Given the description of an element on the screen output the (x, y) to click on. 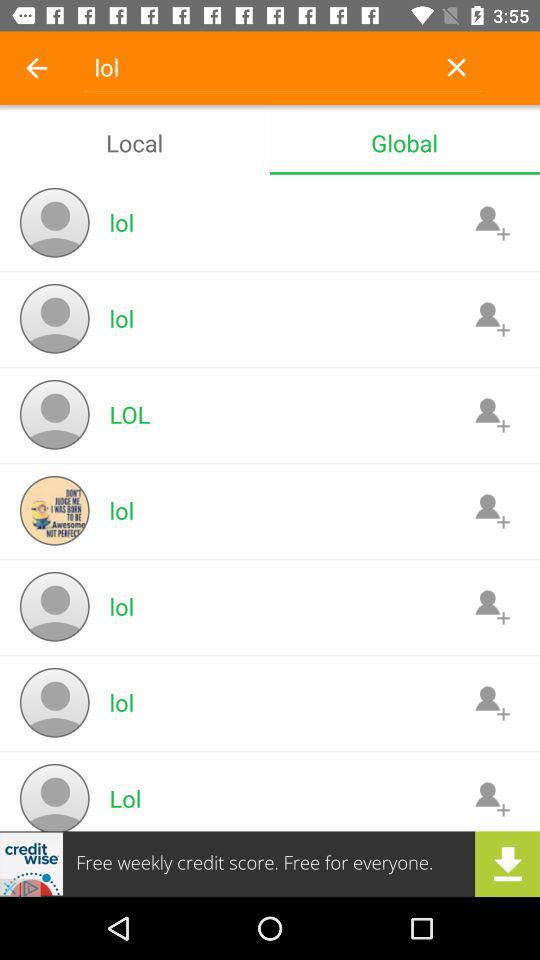
add contact (492, 414)
